Given the description of an element on the screen output the (x, y) to click on. 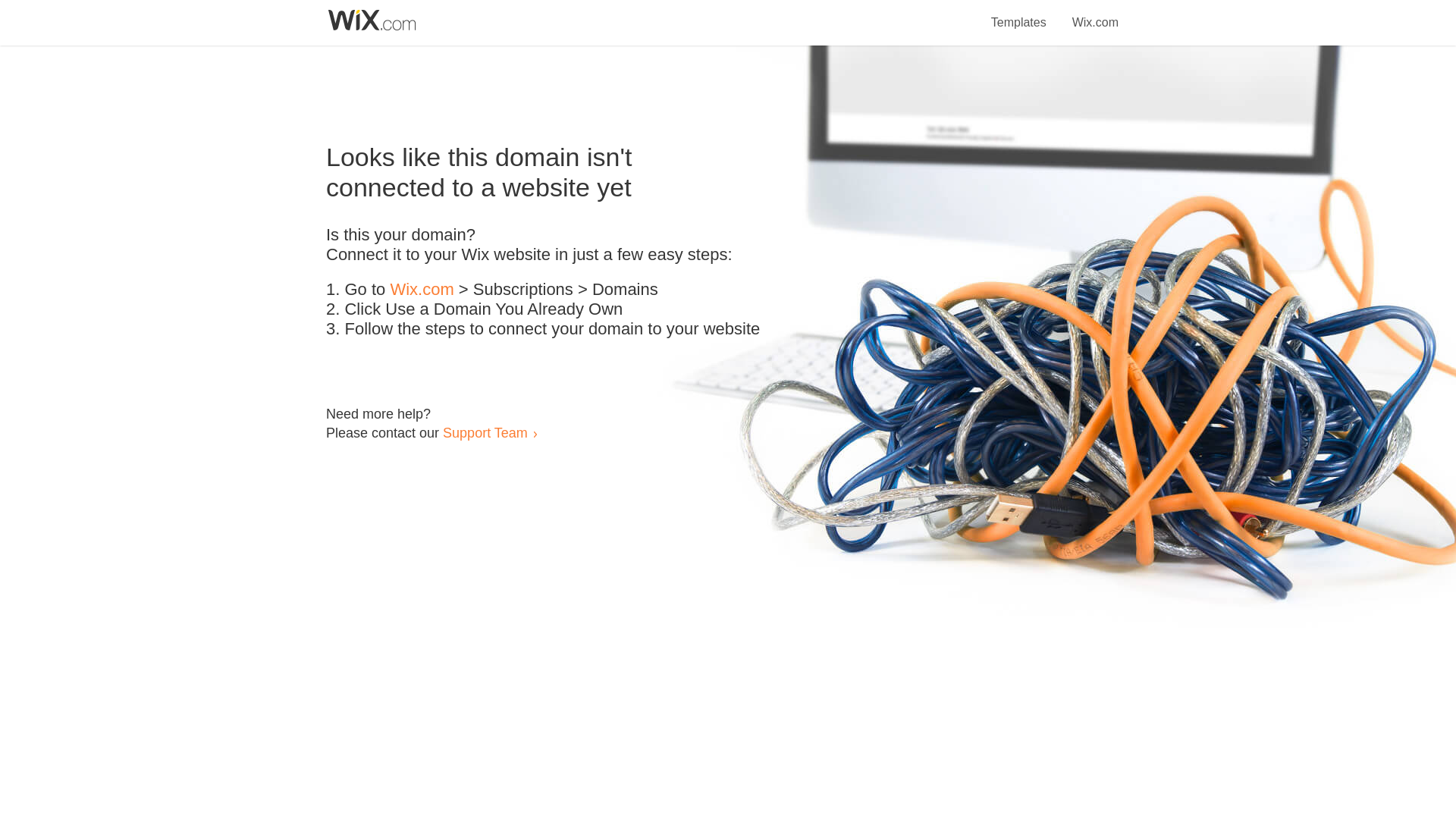
Wix.com (1095, 14)
Wix.com (421, 289)
Support Team (484, 432)
Templates (1018, 14)
